Given the description of an element on the screen output the (x, y) to click on. 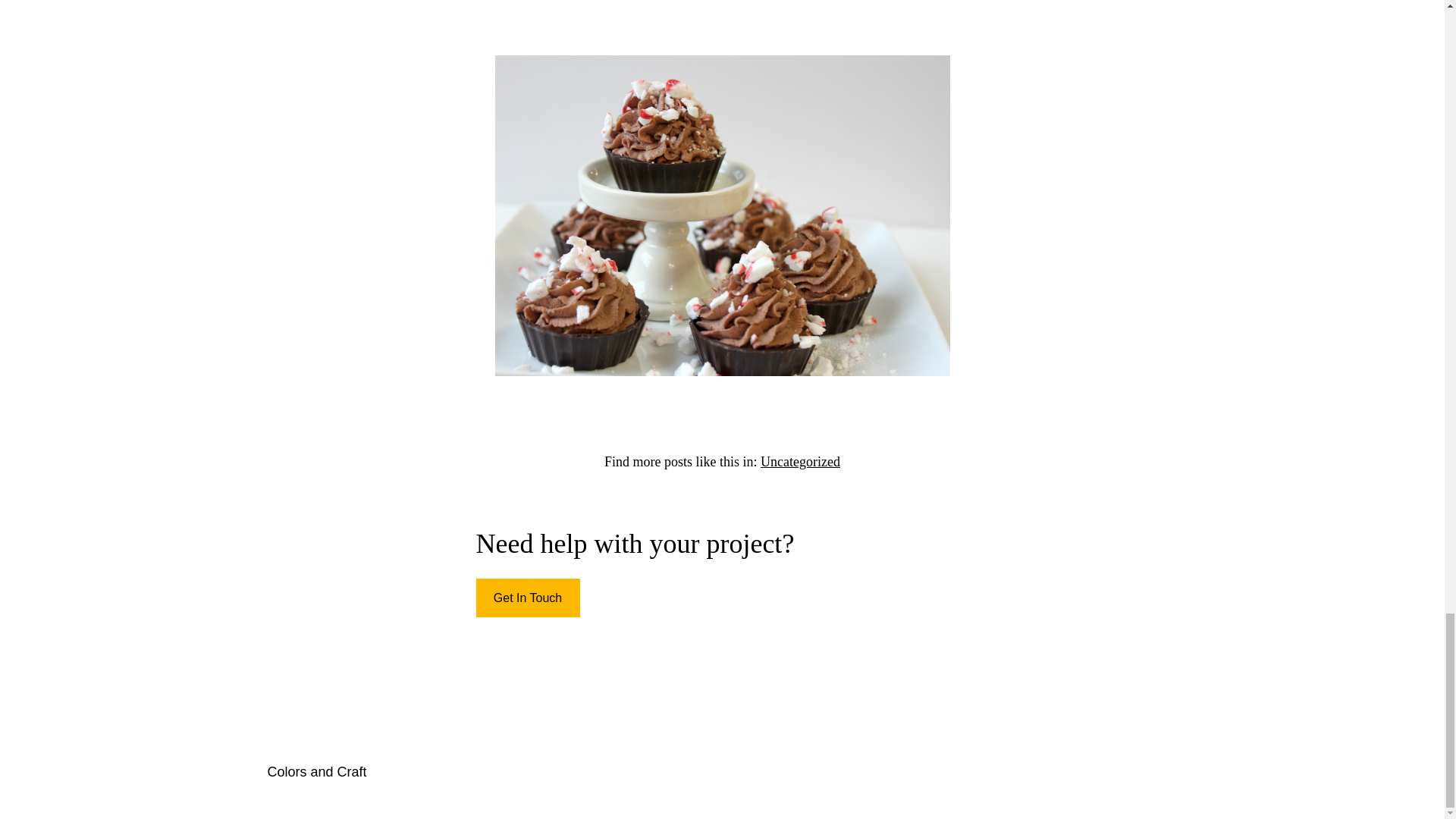
Uncategorized (800, 461)
Colors and Craft (316, 771)
Get In Touch (527, 597)
